Given the description of an element on the screen output the (x, y) to click on. 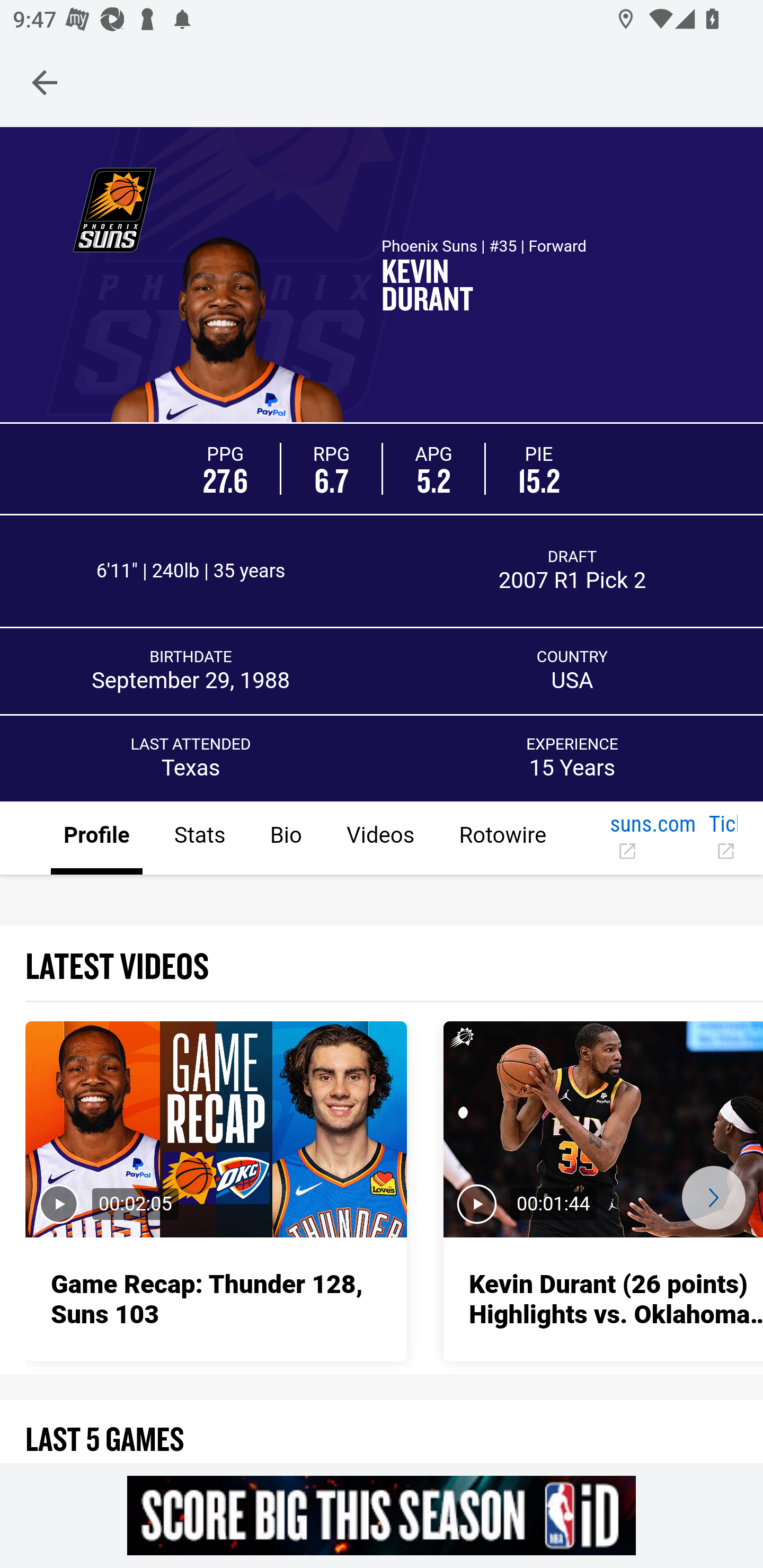
Navigate up (44, 82)
Phoenix Suns Logo (114, 209)
Profile (97, 838)
Stats (199, 838)
Bio (284, 838)
Videos (379, 838)
Rotowire (501, 838)
suns.com (651, 838)
Carousel Button (713, 1197)
g5nqqygr7owph (381, 1515)
